Given the description of an element on the screen output the (x, y) to click on. 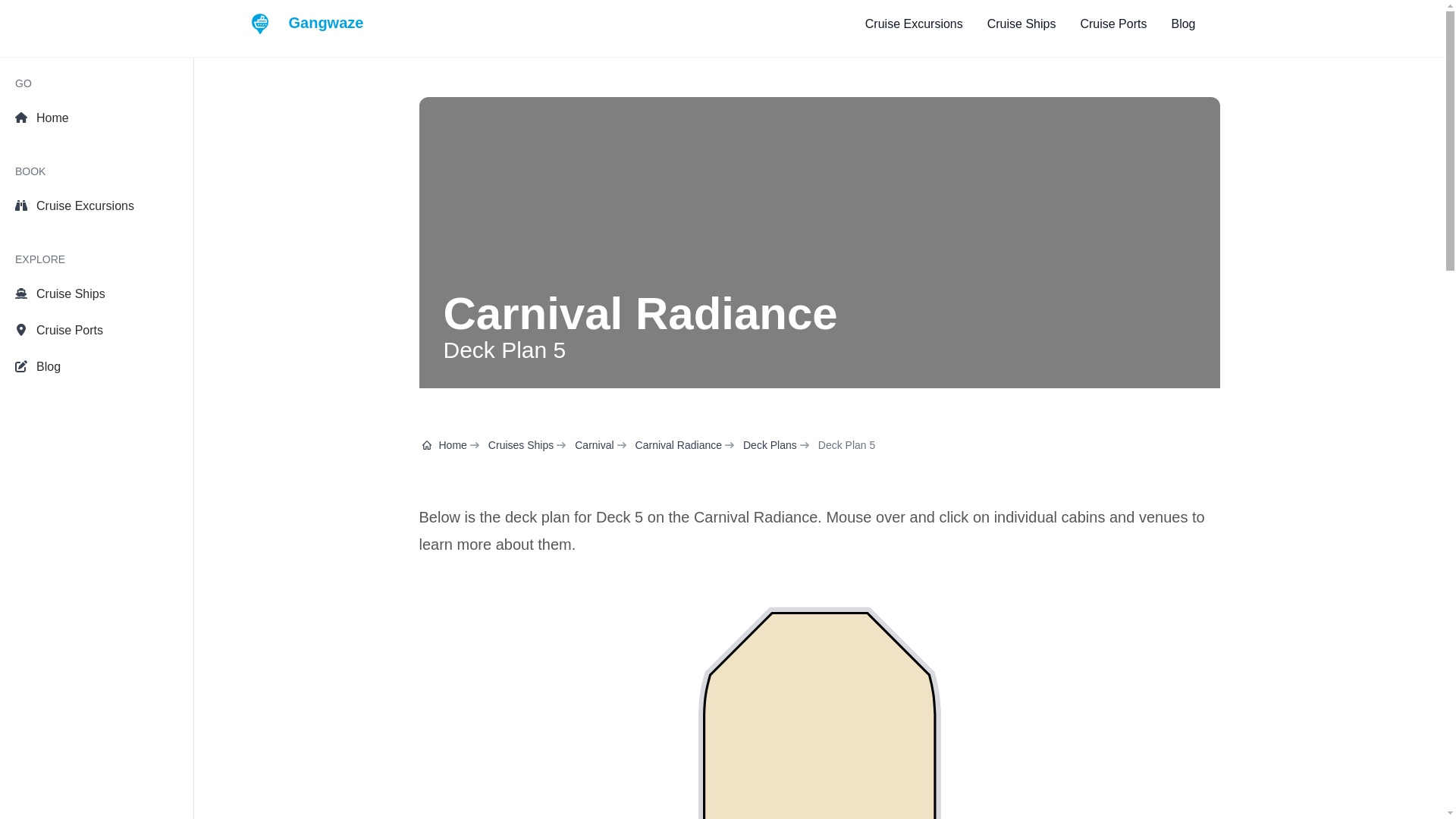
Cruises Ships (520, 444)
Cruise Ships (1022, 24)
Cruise Ships (96, 294)
Cruise Ports (96, 330)
Home (96, 118)
Blog (1182, 24)
Home (443, 444)
Cruise Excursions (913, 24)
Carnival Radiance (678, 444)
Blog (96, 367)
